Given the description of an element on the screen output the (x, y) to click on. 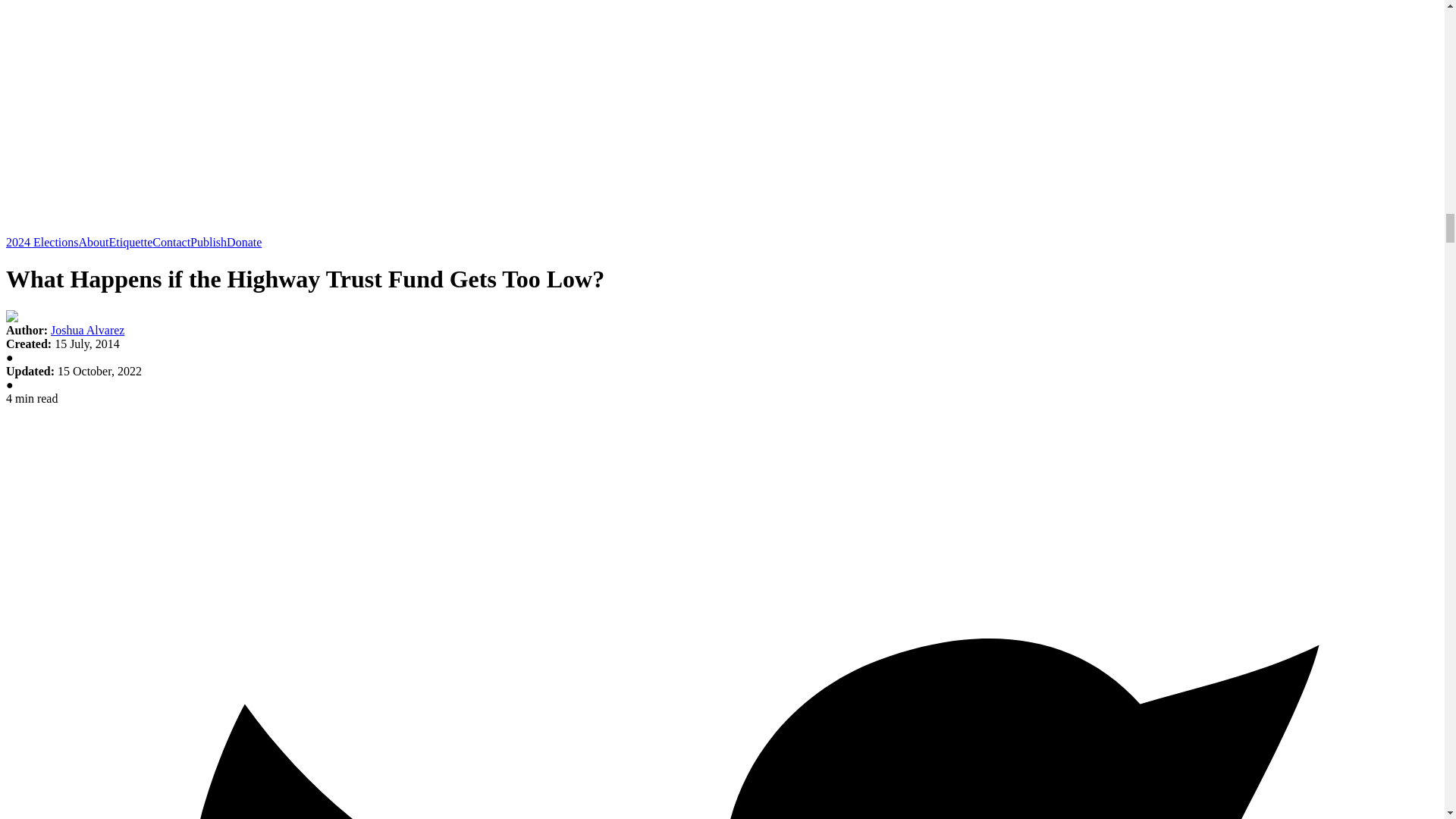
About (93, 241)
Etiquette (130, 241)
Joshua Alvarez (86, 329)
Donate (244, 241)
Contact (171, 241)
2024 Elections (41, 241)
Publish (208, 241)
